Given the description of an element on the screen output the (x, y) to click on. 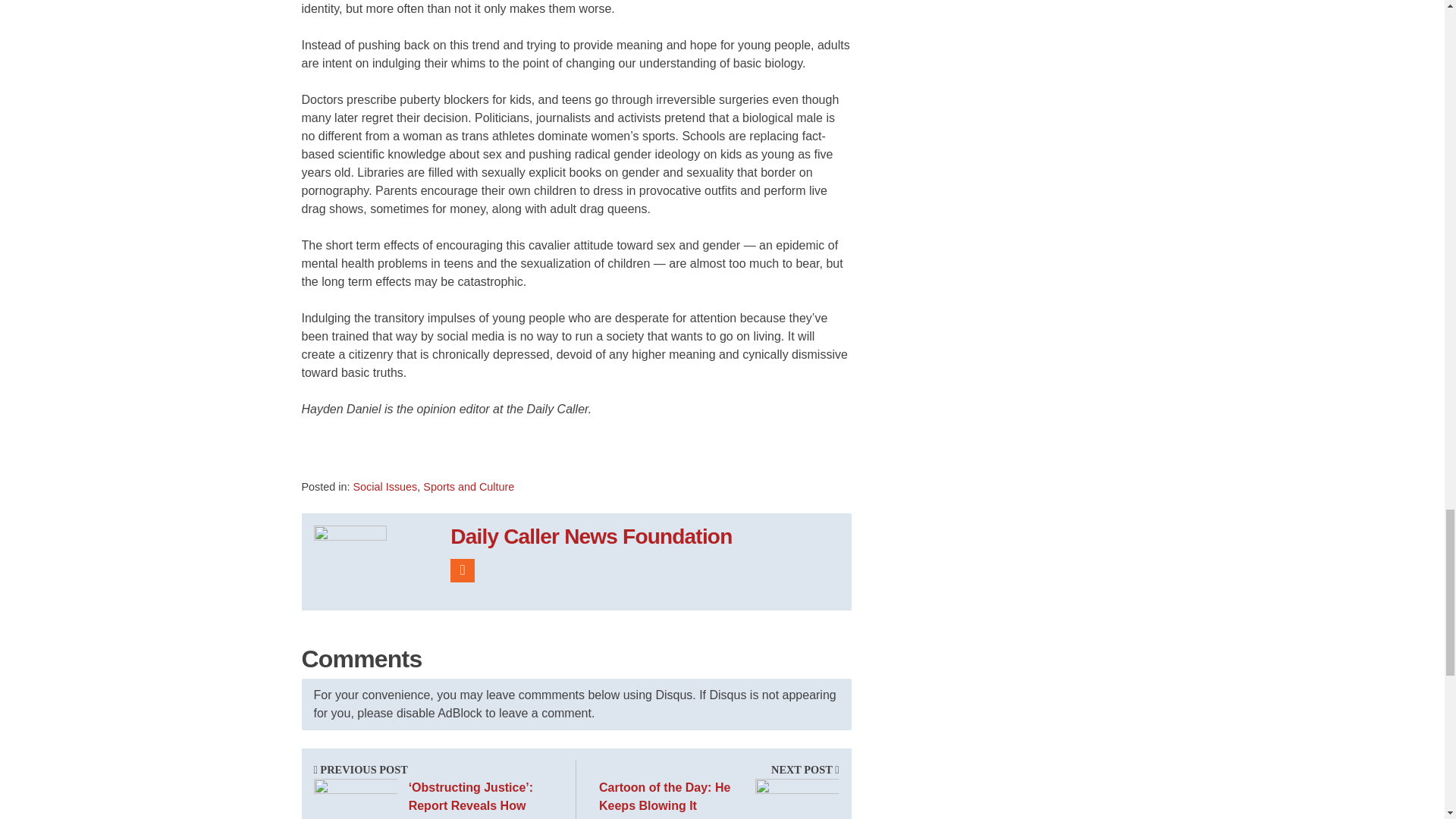
Share on Share (334, 452)
Share on Flip (470, 452)
Share on More Button (515, 452)
Share on Tweet (405, 452)
